Given the description of an element on the screen output the (x, y) to click on. 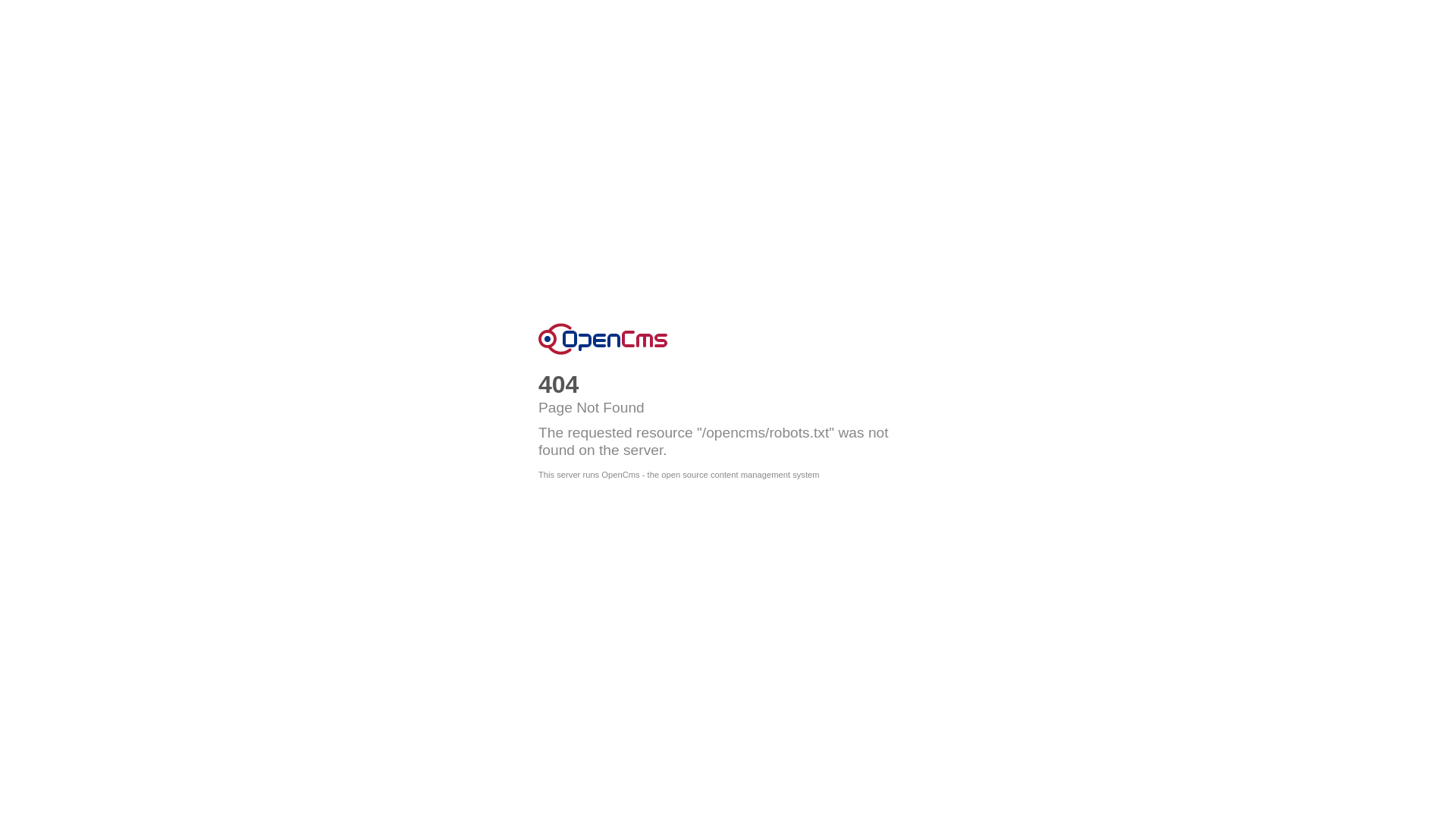
OpenCms Element type: text (602, 338)
